Given the description of an element on the screen output the (x, y) to click on. 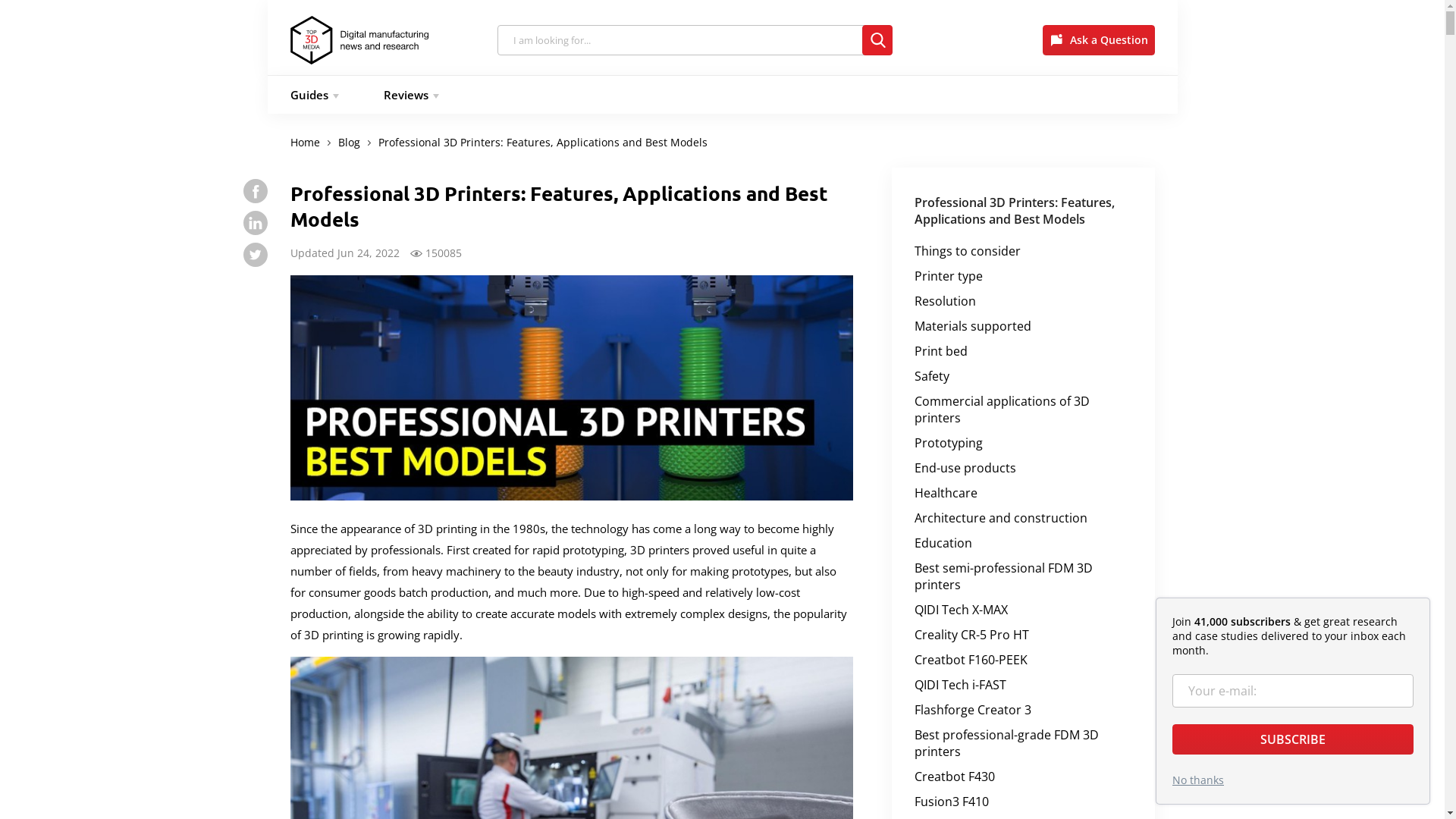
Blog page Element type: hover (378, 39)
No thanks Element type: text (1197, 779)
End-use products Element type: text (965, 467)
Creality CR-5 Pro HT Element type: text (971, 634)
https://twitter.com/top3dshop_inc Element type: text (254, 254)
SUBSCRIBE Element type: text (1292, 739)
Home Element type: text (304, 141)
QIDI Tech i-FAST Element type: text (960, 684)
Safety Element type: text (931, 375)
Best professional-grade FDM 3D printers Element type: text (1006, 742)
QIDI Tech X-MAX Element type: text (960, 609)
Creatbot F160-PEEK Element type: text (970, 659)
https://www.linkedin.com/showcase/top3dshop-inc/ Element type: text (254, 222)
Healthcare Element type: text (945, 492)
Guides Element type: text (310, 94)
Prototyping Element type: text (948, 442)
Architecture and construction Element type: text (1000, 517)
Creatbot F430 Element type: text (954, 776)
Things to consider Element type: text (967, 250)
Fusion3 F410 Element type: text (951, 801)
Education Element type: text (943, 542)
Blog Element type: text (349, 141)
Flashforge Creator 3 Element type: text (972, 709)
Print bed Element type: text (940, 350)
Best semi-professional FDM 3D printers Element type: text (1003, 576)
Commercial applications of 3D printers Element type: text (1001, 409)
Reviews Element type: text (409, 94)
Ask a Question Element type: text (1097, 39)
Printer type Element type: text (948, 275)
Resolution Element type: text (944, 300)
Materials supported Element type: text (972, 325)
https://www.facebook.com/top3dshopinc/ Element type: text (254, 190)
